Given the description of an element on the screen output the (x, y) to click on. 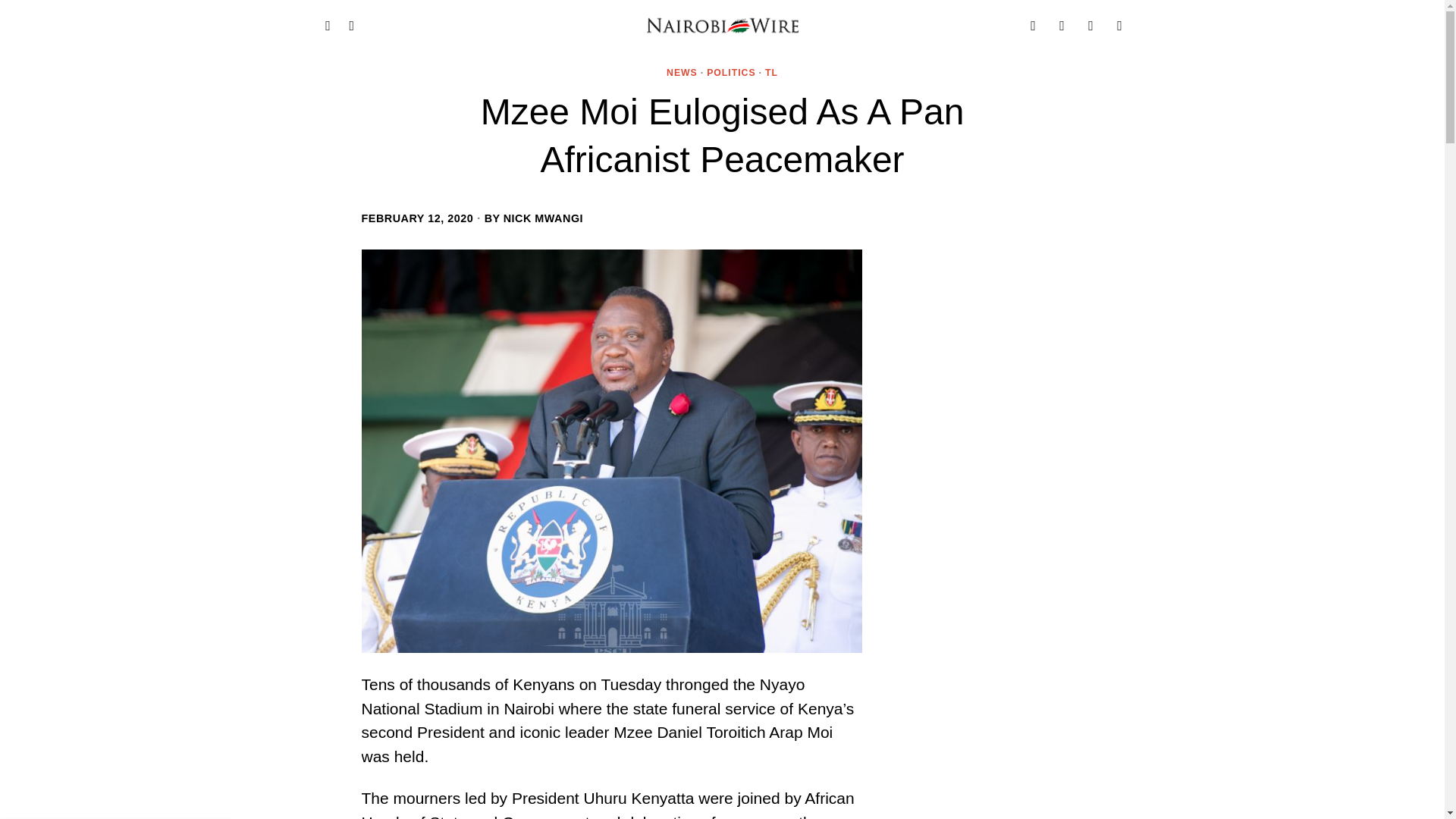
12 Feb, 2020 06:36:48 (417, 218)
POLITICS (730, 73)
NICK MWANGI (543, 218)
NEWS (681, 73)
TL (771, 73)
